Given the description of an element on the screen output the (x, y) to click on. 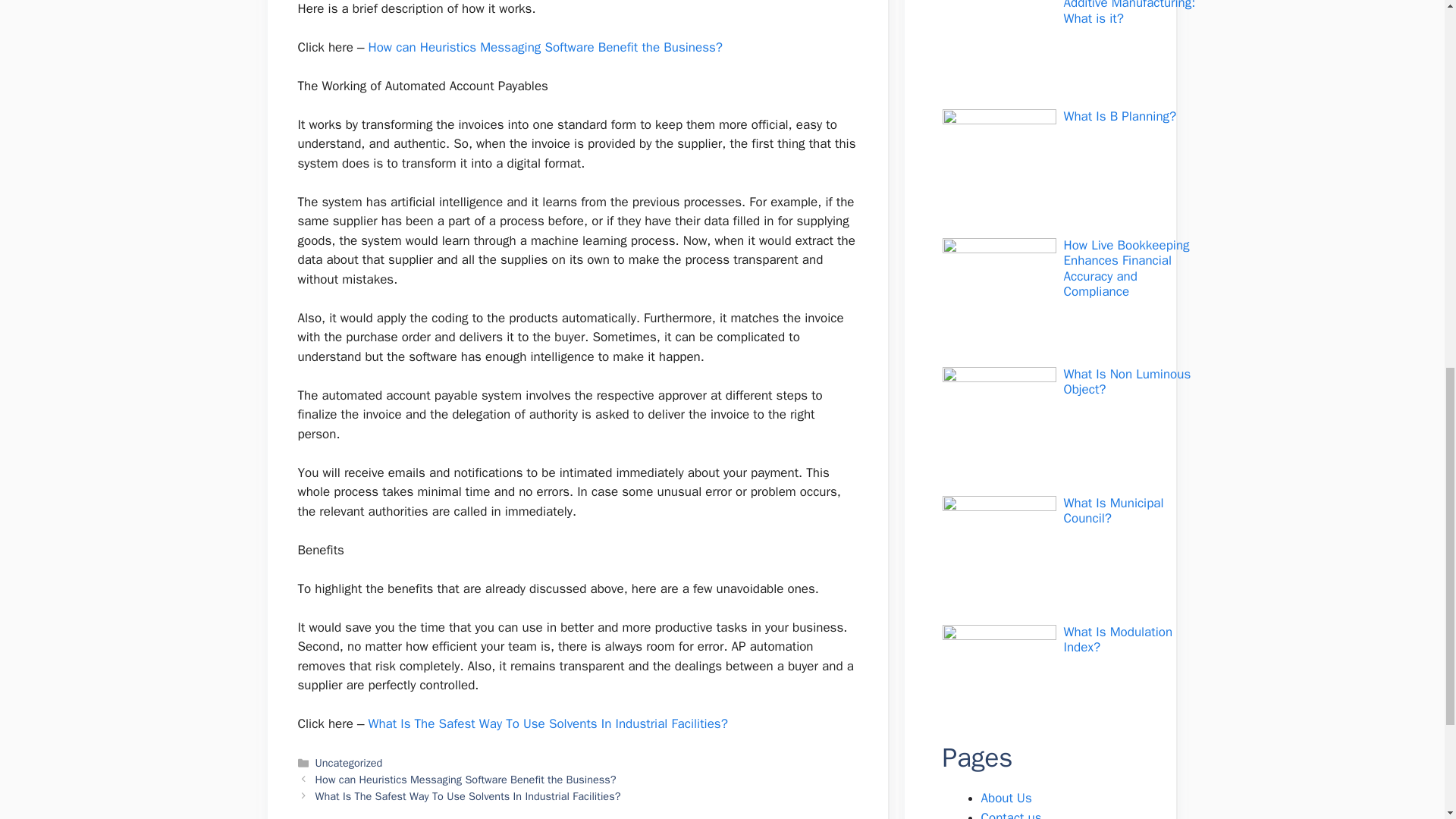
How can Heuristics Messaging Software Benefit the Business?  (547, 47)
What Is Non Luminous Object? (1126, 381)
How can Heuristics Messaging Software Benefit the Business?  (467, 779)
What Is B Planning? (1119, 116)
Contact us (1011, 814)
What Is Municipal Council? (1112, 510)
What Is Modulation Index? (1117, 639)
Post-Processing in Additive Manufacturing: What is it? (1128, 13)
About Us (1006, 797)
Uncategorized (348, 762)
